Given the description of an element on the screen output the (x, y) to click on. 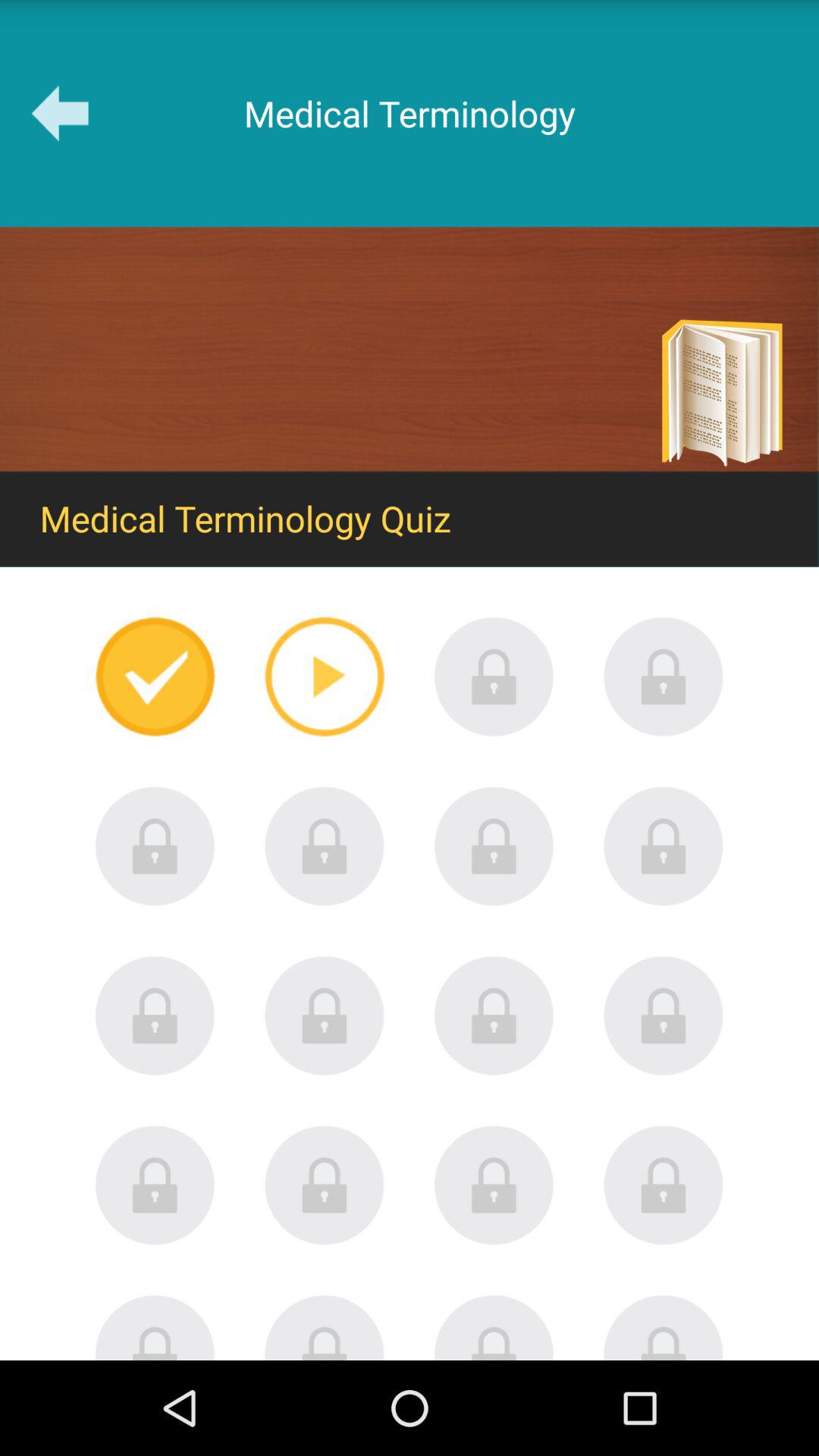
locked icon (663, 1184)
